Given the description of an element on the screen output the (x, y) to click on. 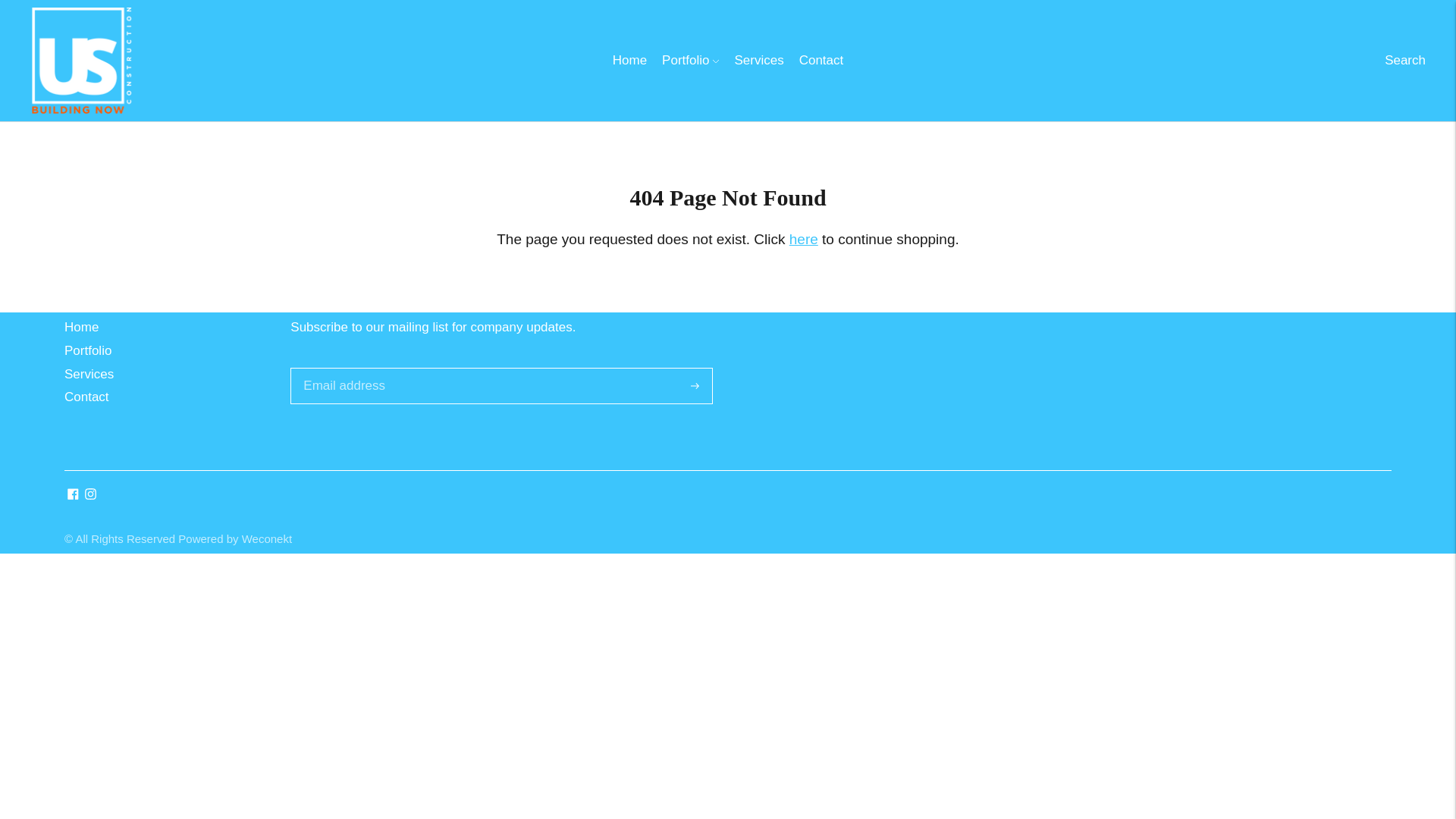
Home (629, 60)
Search (1404, 60)
Contact (821, 60)
Portfolio (690, 60)
Services (758, 60)
